Given the description of an element on the screen output the (x, y) to click on. 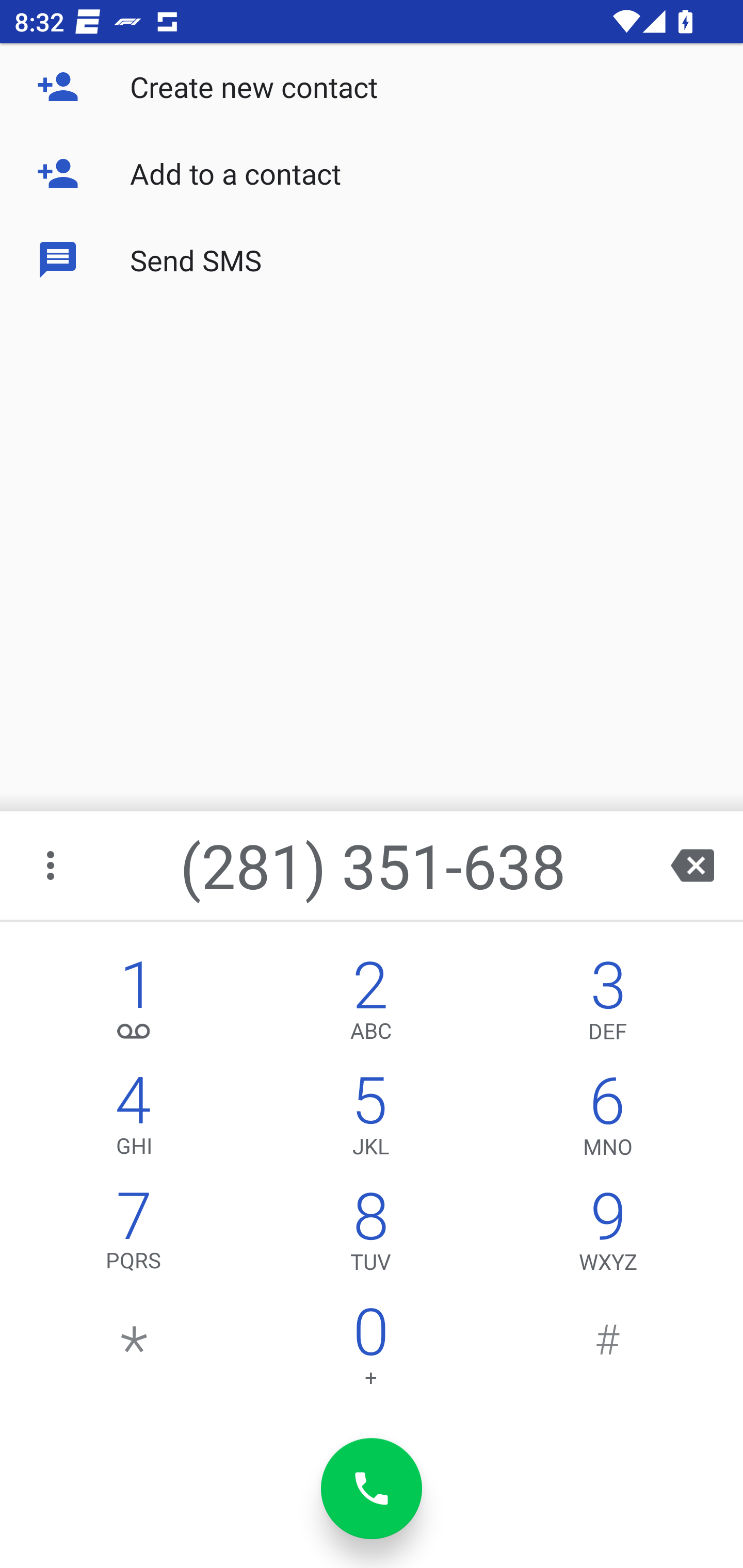
Create new contact (371, 86)
Add to a contact (371, 173)
Send SMS (371, 259)
(281) 351-638 (372, 865)
backspace (692, 865)
More options (52, 865)
1, 1 (133, 1005)
2,ABC 2 ABC (370, 1005)
3,DEF 3 DEF (607, 1005)
4,GHI 4 GHI (133, 1120)
5,JKL 5 JKL (370, 1120)
6,MNO 6 MNO (607, 1120)
7,PQRS 7 PQRS (133, 1235)
8,TUV 8 TUV (370, 1235)
9,WXYZ 9 WXYZ (607, 1235)
* (133, 1351)
0 0 + (370, 1351)
# (607, 1351)
dial (371, 1488)
